Given the description of an element on the screen output the (x, y) to click on. 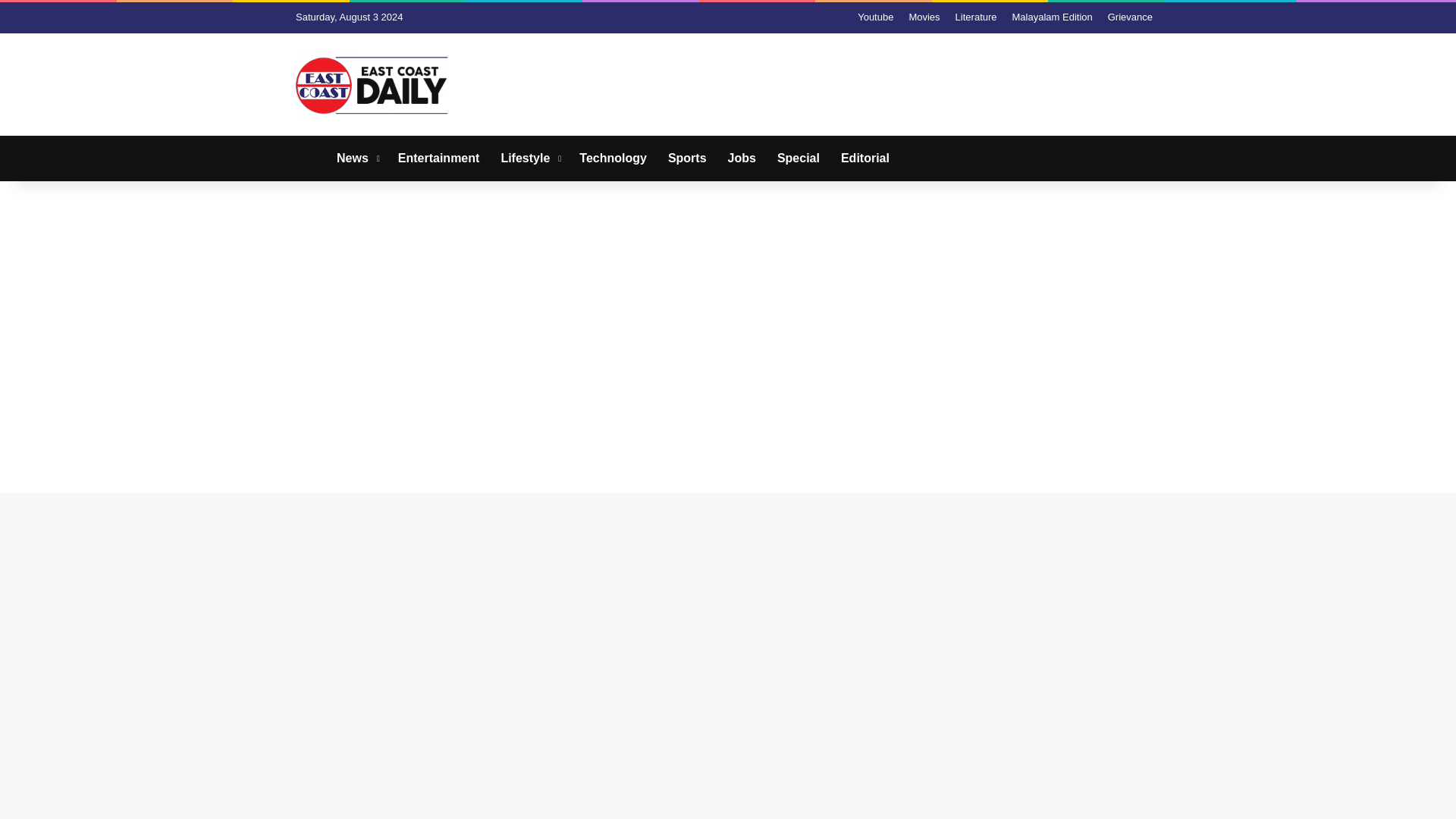
Technology (613, 157)
Jobs (742, 157)
Literature (975, 17)
Movies (924, 17)
Editorial (864, 157)
Malayalam Edition (1052, 17)
Entertainment (438, 157)
Grievance (1130, 17)
Youtube (875, 17)
News (356, 157)
